Given the description of an element on the screen output the (x, y) to click on. 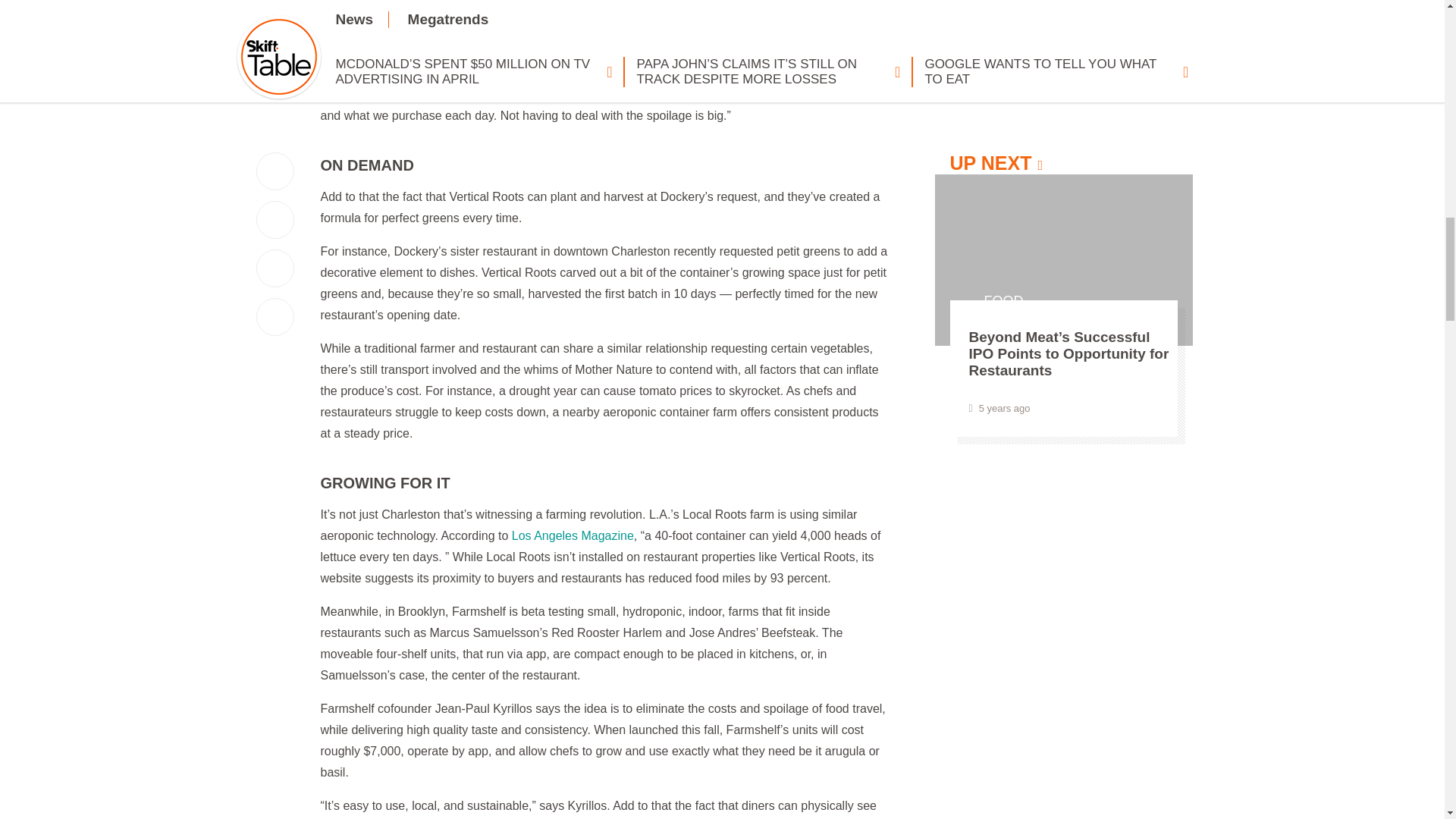
Los Angeles Magazine (572, 535)
